Given the description of an element on the screen output the (x, y) to click on. 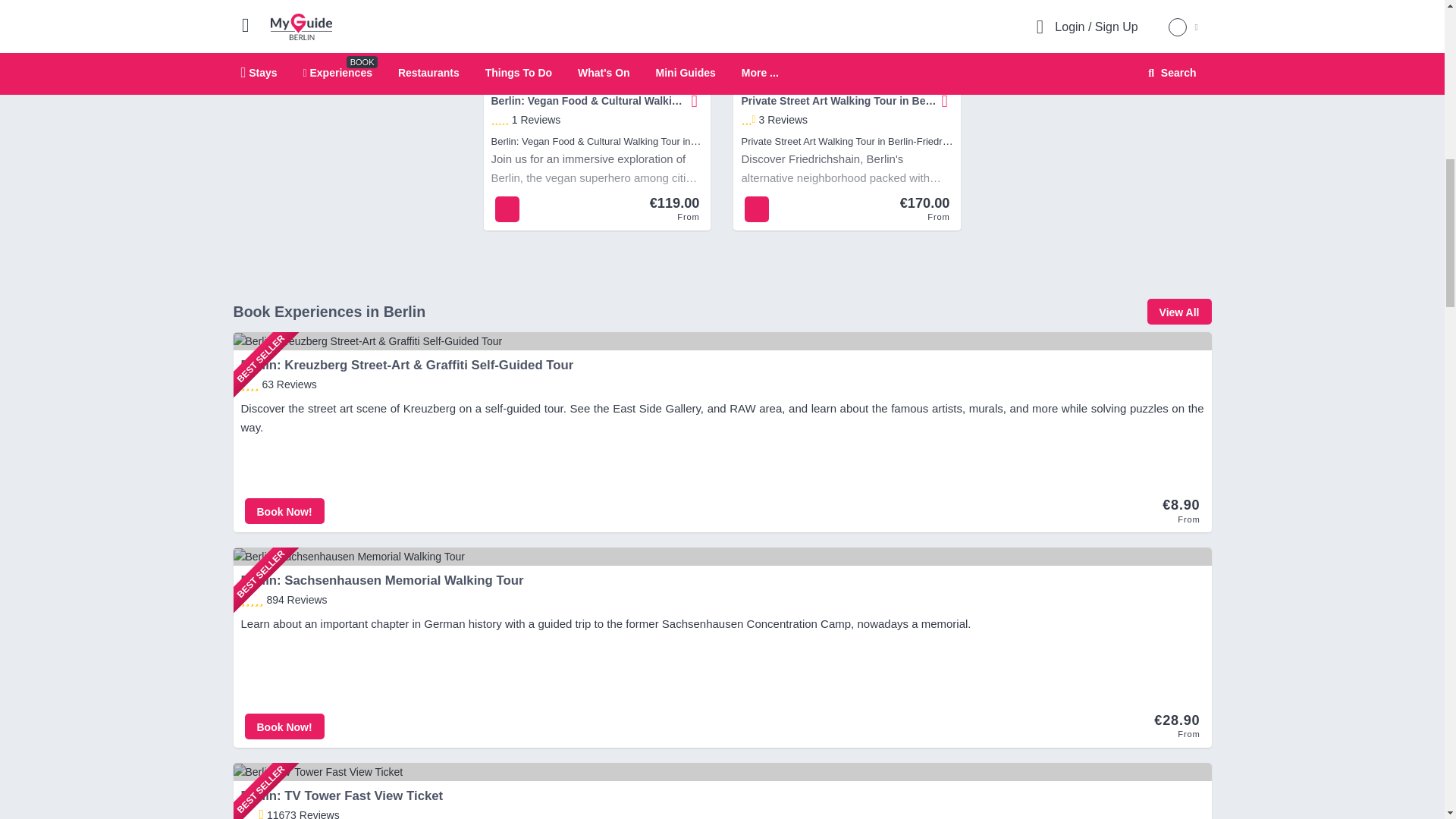
Add to My Guide (692, 100)
Add to My Guide (942, 100)
Add to My Guide (944, 100)
Add to My Guide (694, 100)
